Given the description of an element on the screen output the (x, y) to click on. 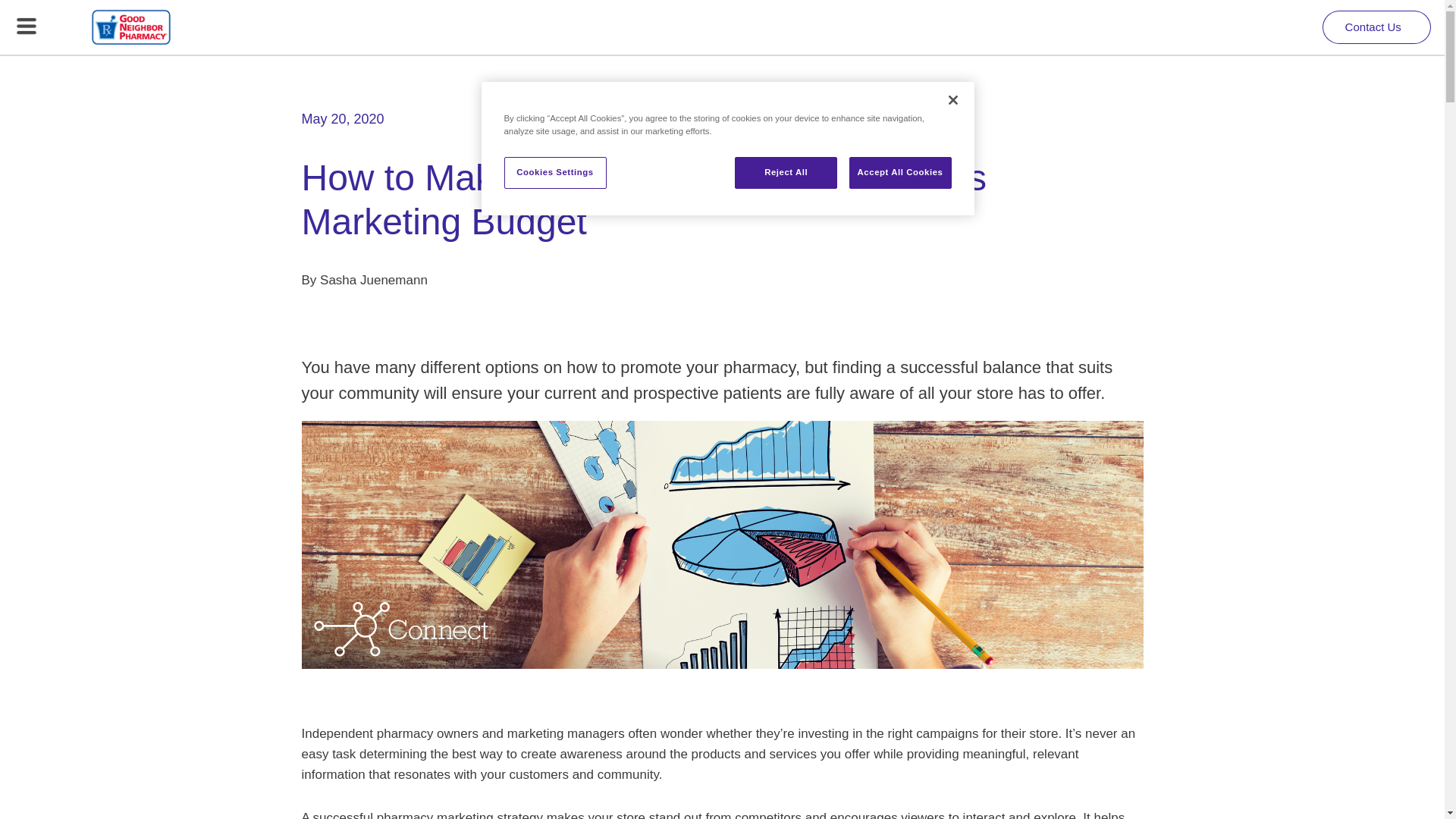
Contact Us (1376, 27)
menu toggle (27, 25)
